Given the description of an element on the screen output the (x, y) to click on. 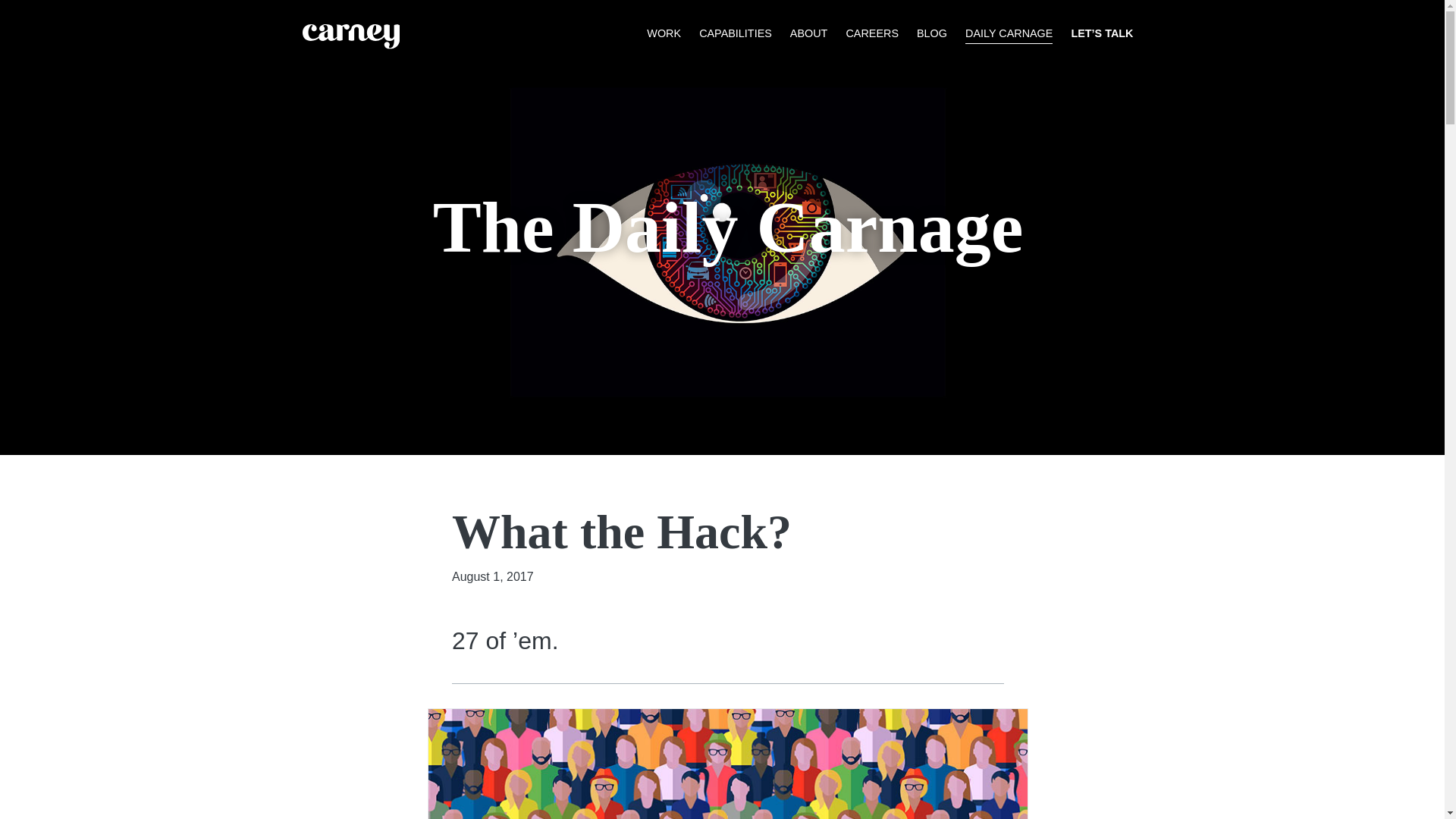
CAPABILITIES (734, 34)
CAREERS (871, 34)
BLOG (932, 34)
DAILY CARNAGE (1008, 34)
WORK (663, 34)
ABOUT (809, 34)
